Given the description of an element on the screen output the (x, y) to click on. 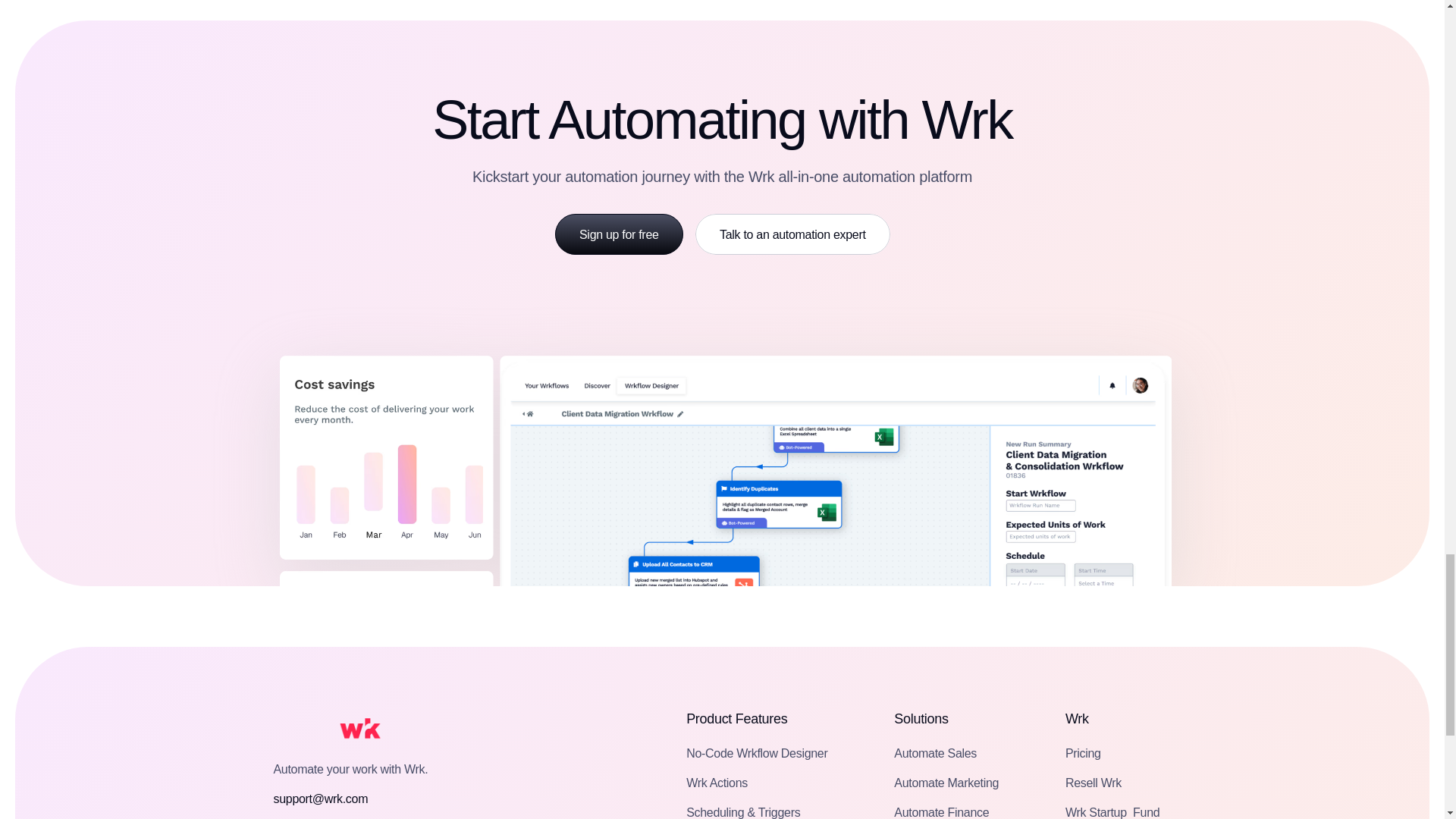
Automate Marketing (945, 783)
Resell Wrk (1093, 783)
No-Code Wrkflow Designer (756, 752)
Automate Finance (940, 810)
Pricing (1082, 752)
Automate Sales (618, 233)
Wrk Startup  Fund (934, 752)
Wrk Actions (1111, 810)
